Given the description of an element on the screen output the (x, y) to click on. 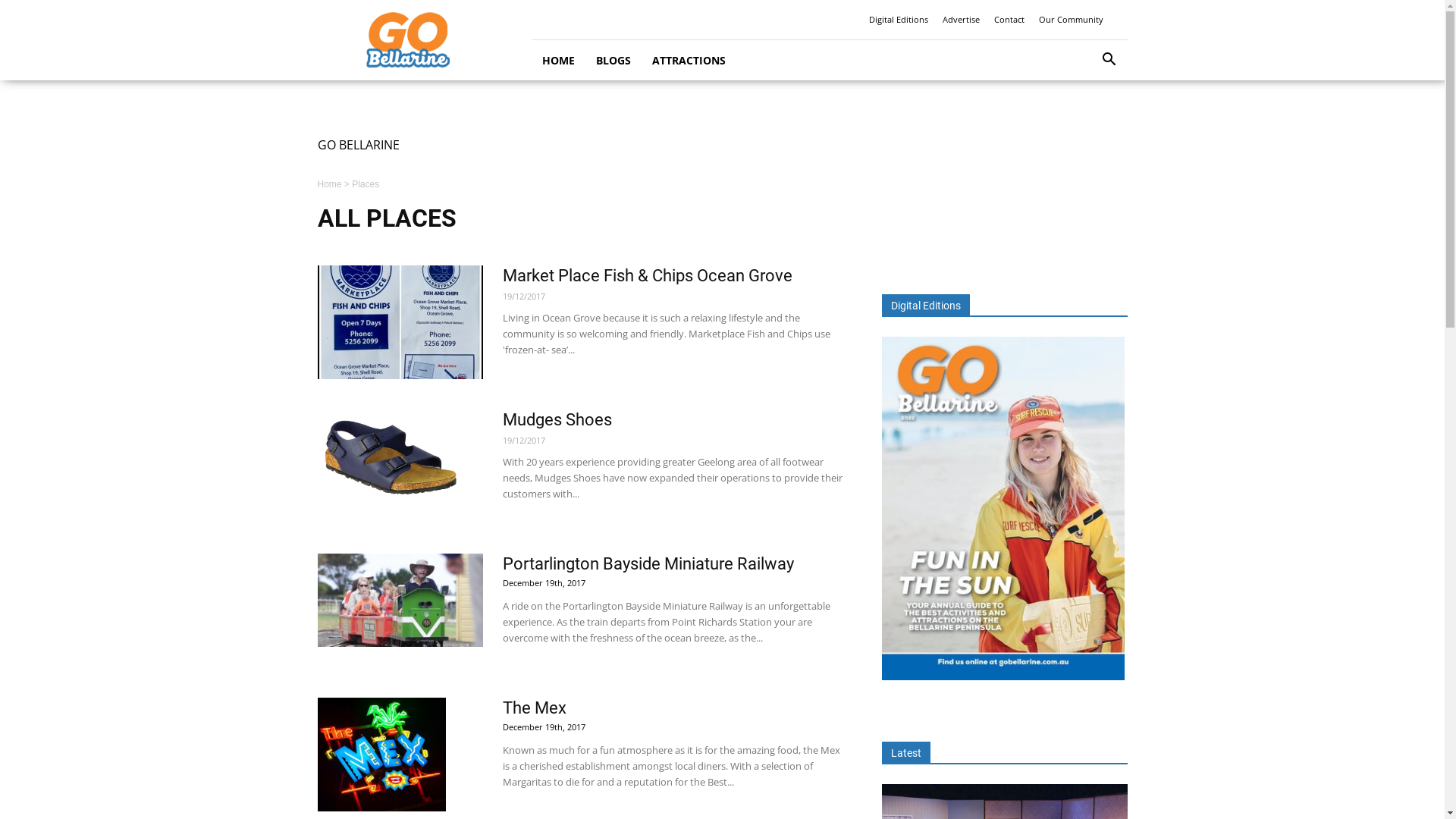
Mudges Shoes Element type: text (556, 419)
The Mex Element type: hover (380, 754)
Market Place Fish & Chips Ocean Grove Element type: hover (399, 322)
ATTRACTIONS Element type: text (688, 60)
Advertise Element type: text (960, 19)
Contact Element type: text (1008, 19)
Search Element type: text (1085, 122)
Our Community Element type: text (1070, 19)
Mudges Shoes Element type: hover (388, 466)
Market Place Fish & Chips Ocean Grove Element type: text (646, 275)
HOME Element type: text (557, 60)
Home Element type: text (328, 183)
Places Element type: text (365, 183)
The Mex Element type: text (533, 707)
Portarlington Bayside Miniature Railway Element type: text (647, 563)
Portarlington Bayside Miniature Railway Element type: hover (399, 599)
Digital Editions Element type: text (898, 19)
BLOGS Element type: text (613, 60)
